Given the description of an element on the screen output the (x, y) to click on. 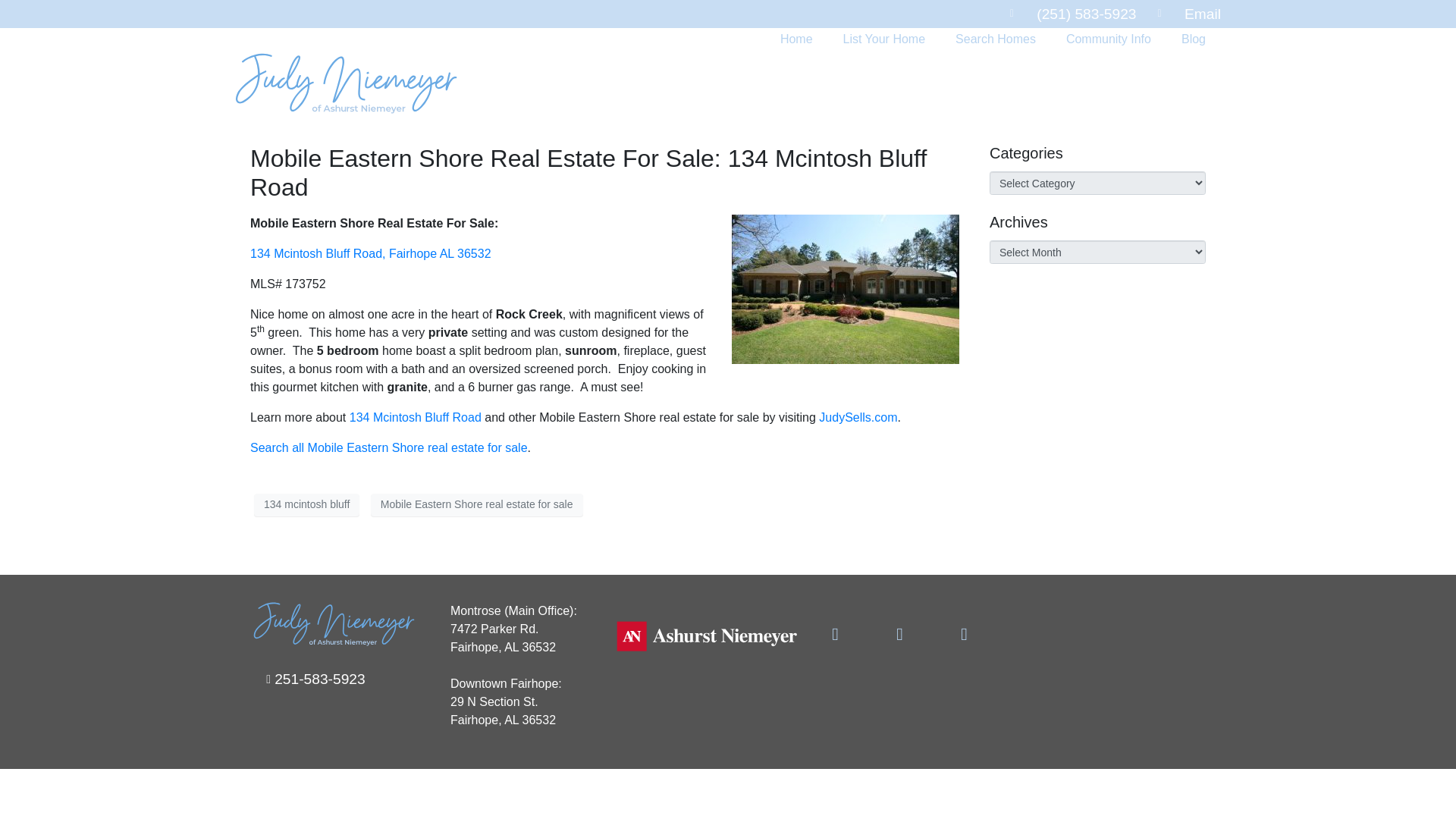
Search Homes (995, 39)
Home (796, 39)
Community Info (1108, 39)
Email (1189, 13)
134 Mcintosh buff (845, 288)
List Your Home (884, 39)
Blog (1193, 39)
